Given the description of an element on the screen output the (x, y) to click on. 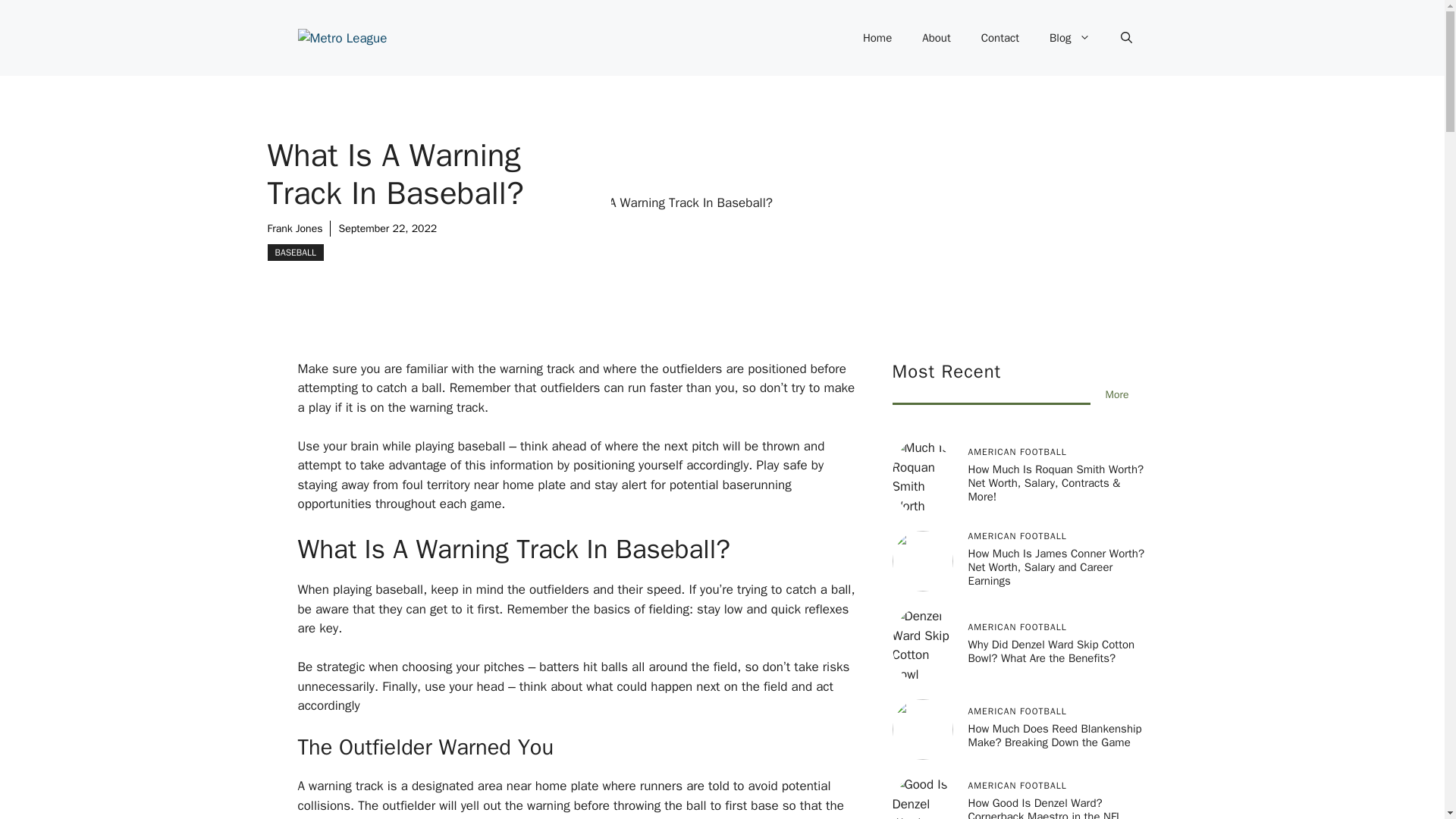
Blog (1069, 37)
BASEBALL (294, 252)
Contact (999, 37)
About (936, 37)
Frank Jones (293, 228)
Home (877, 37)
More (1117, 394)
